Given the description of an element on the screen output the (x, y) to click on. 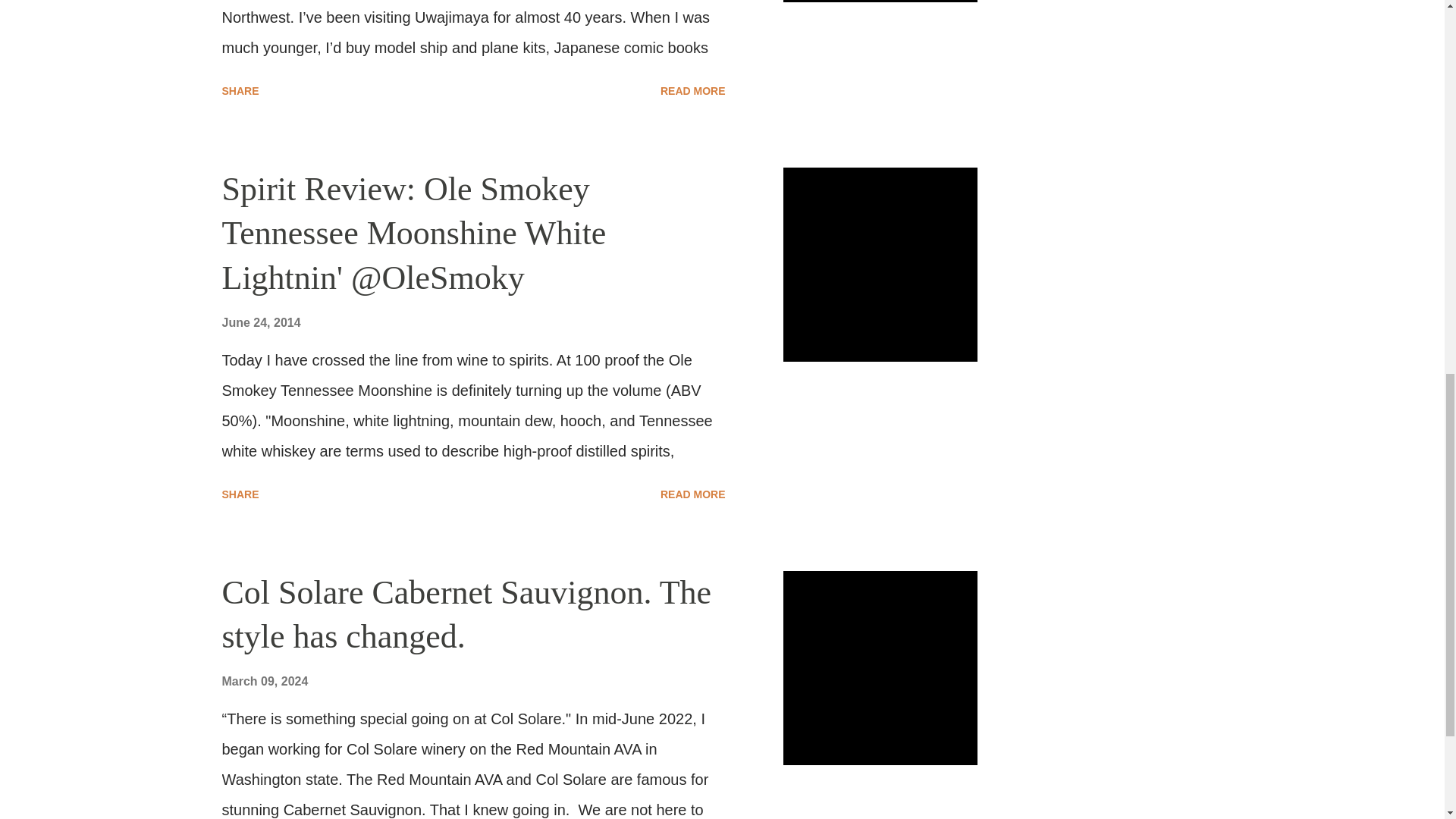
READ MORE (692, 90)
SHARE (239, 494)
June 24, 2014 (260, 322)
SHARE (239, 90)
March 09, 2024 (264, 680)
Col Solare Cabernet Sauvignon. The style has changed. (466, 615)
READ MORE (692, 494)
